Given the description of an element on the screen output the (x, y) to click on. 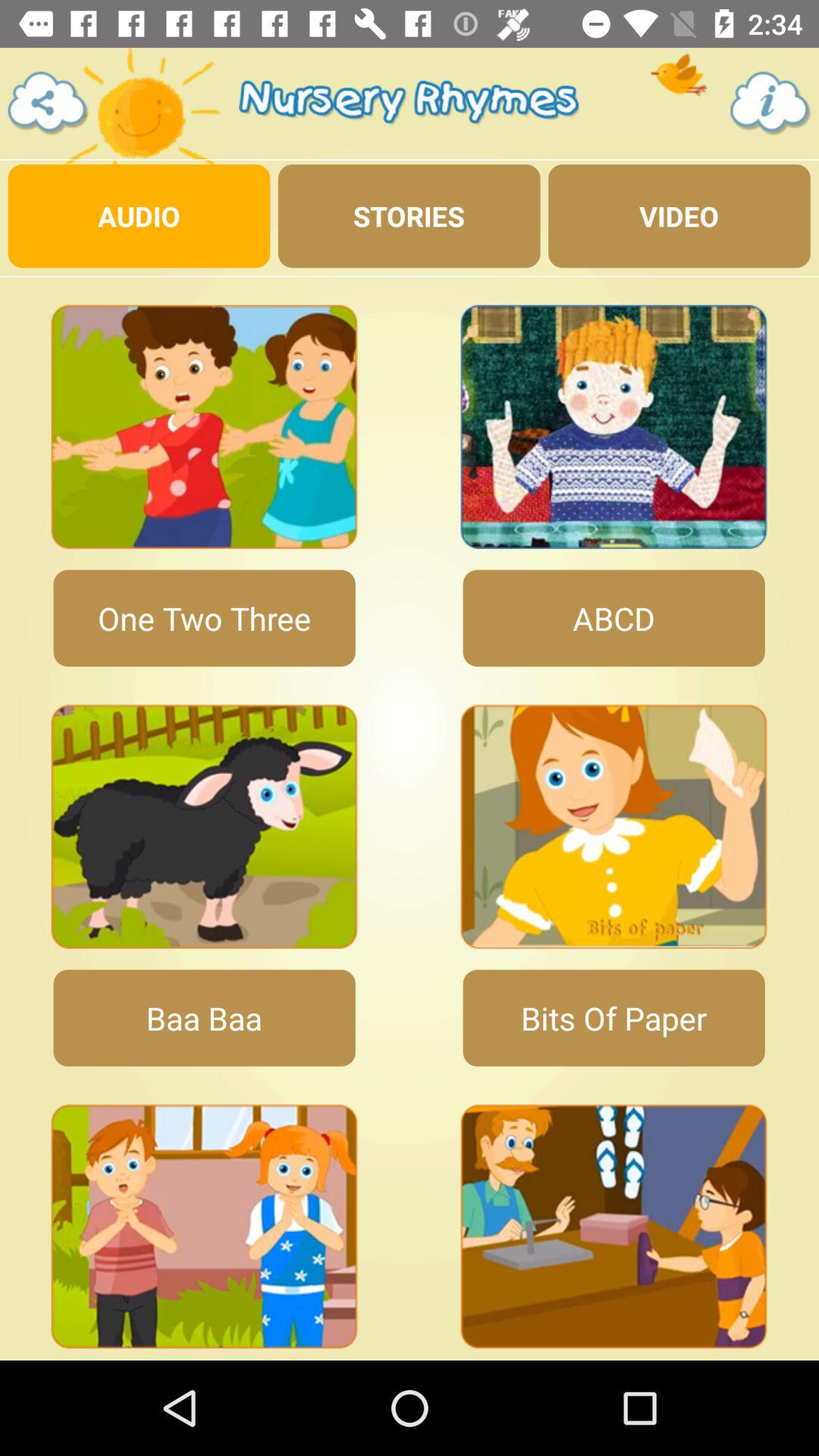
settings button (47, 103)
